Given the description of an element on the screen output the (x, y) to click on. 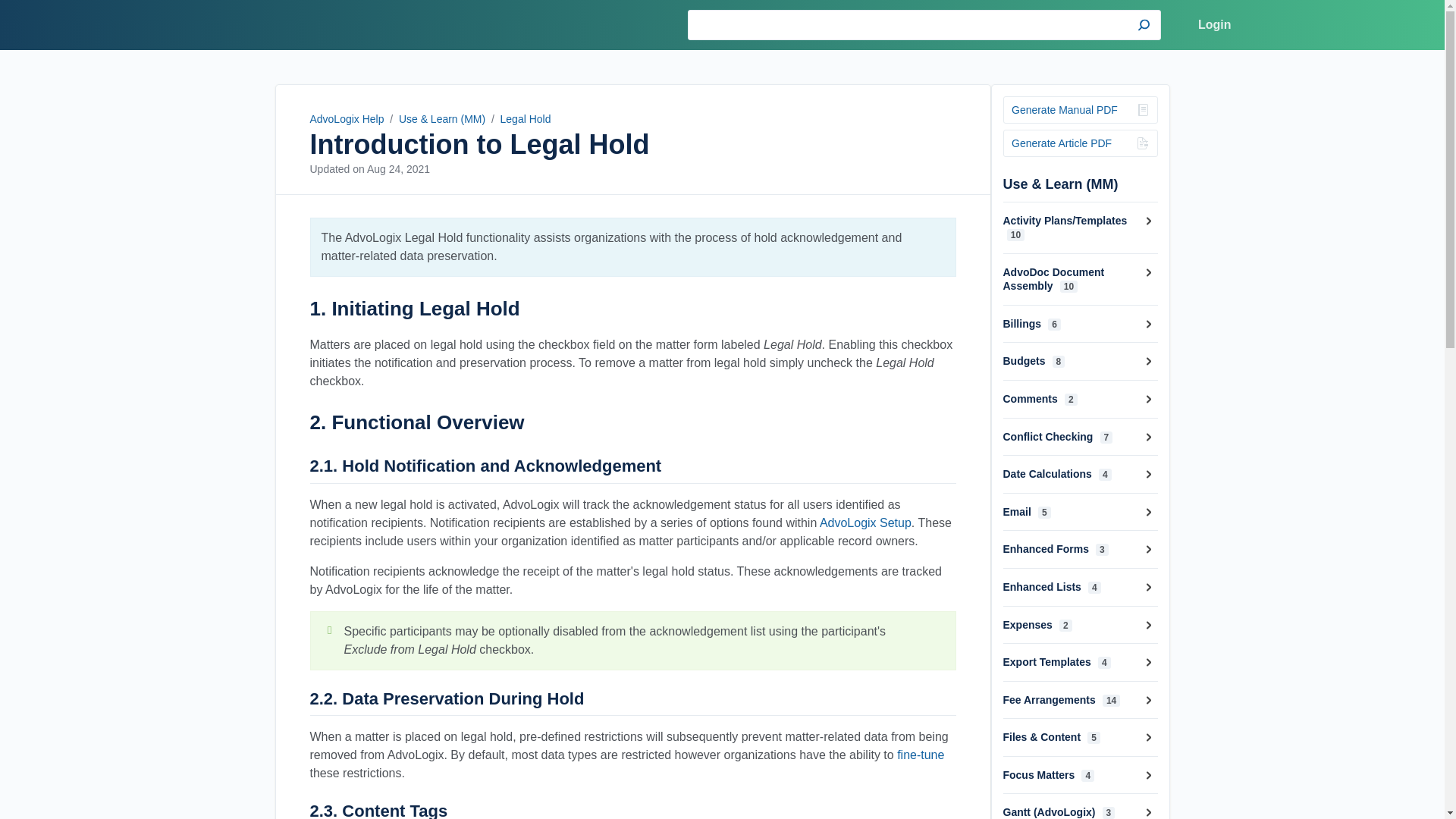
August 24, 2021 at 6:14am  (397, 168)
AdvoLogix Help (346, 119)
fine-tune (919, 754)
AdvoLogix Help (285, 24)
AdvoLogix Setup (865, 521)
AdvoLogix Help (285, 24)
Generate Article PDF (1080, 143)
Legal Hold (525, 119)
Generate Manual PDF (1080, 109)
Login (1215, 25)
